Given the description of an element on the screen output the (x, y) to click on. 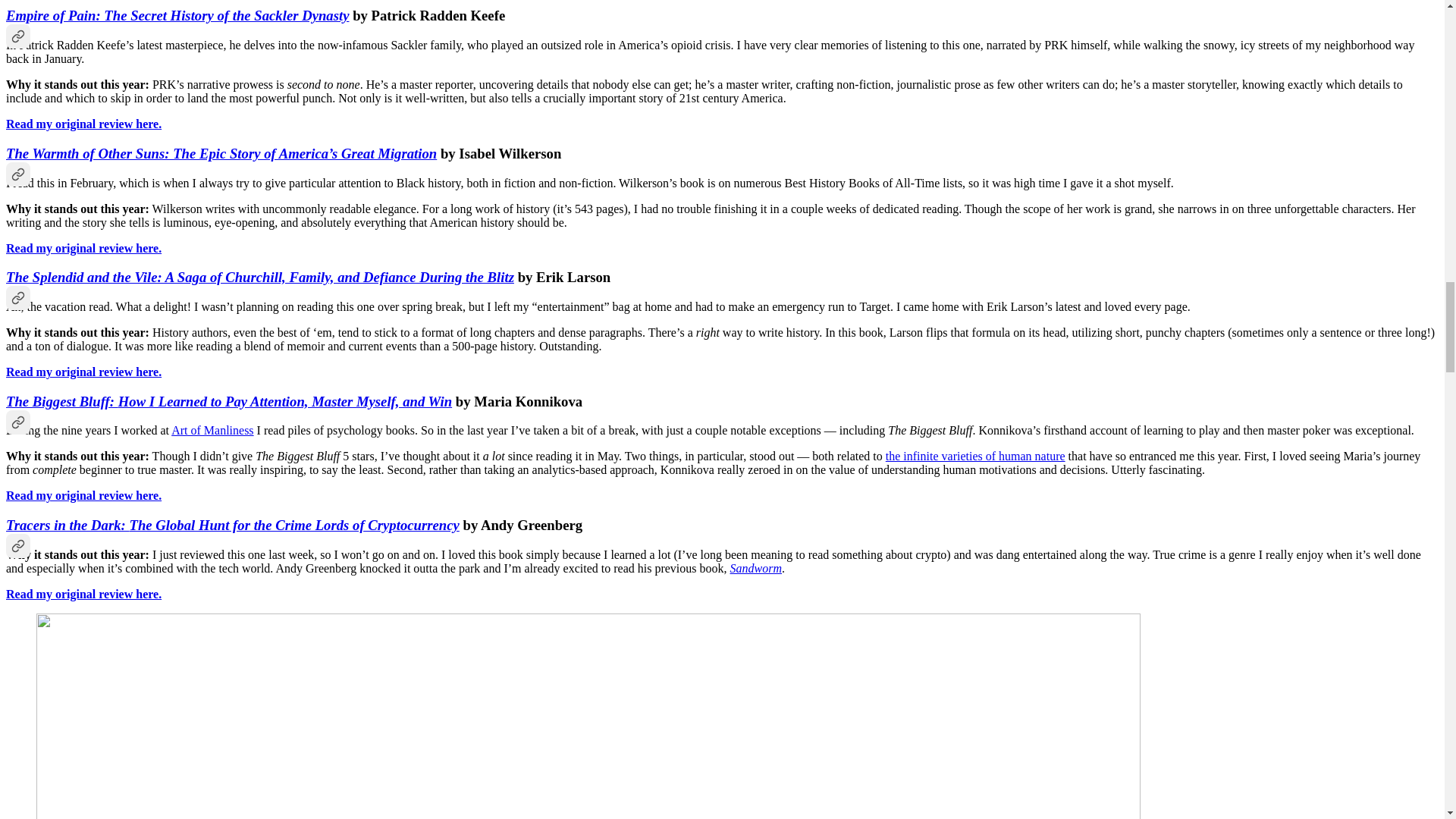
Read my original review here. (83, 495)
Art of Manliness (212, 430)
the infinite varieties of human nature (975, 455)
How I Learned to Pay Attention, Master Myself, and Win (284, 401)
Tracers in the Dark: (67, 524)
Read my original review here. (83, 371)
Empire of Pain: The Secret History of the Sackler Dynasty (177, 15)
Read my original review here. (83, 247)
Read my original review here. (83, 123)
The Biggest Bluff: (61, 401)
